Given the description of an element on the screen output the (x, y) to click on. 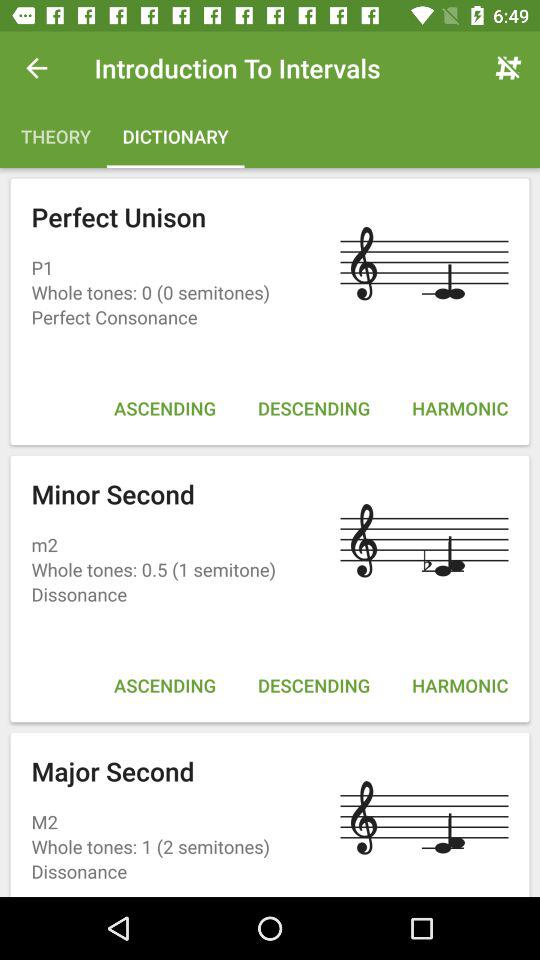
turn on the icon next to introduction to intervals (36, 68)
